Given the description of an element on the screen output the (x, y) to click on. 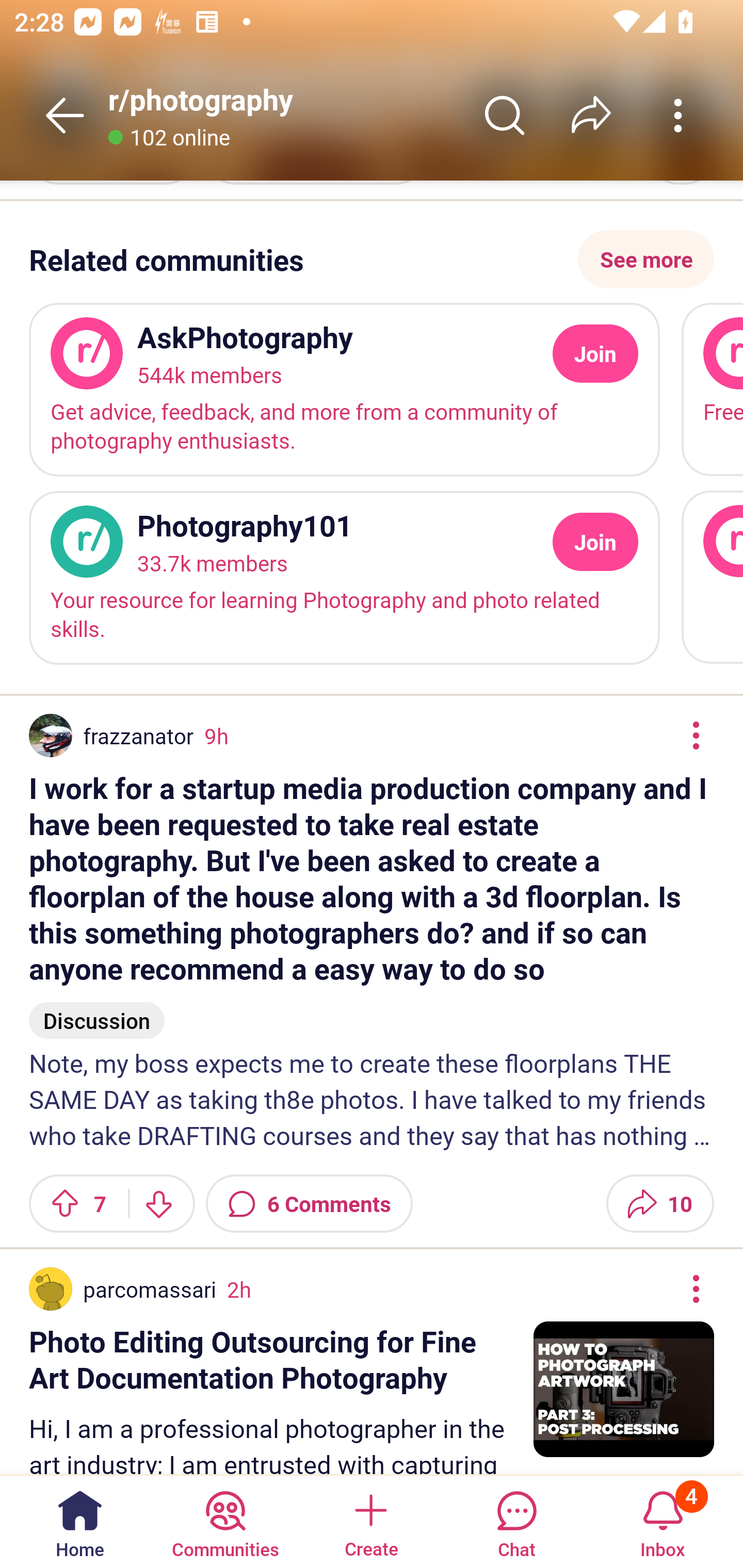
Back (64, 115)
Search r/﻿photography (504, 115)
Share r/﻿photography (591, 115)
More community actions (677, 115)
Related communities See more (371, 259)
See more (646, 259)
Join (595, 353)
Join (595, 541)
Discussion (96, 1010)
Home (80, 1520)
Communities (225, 1520)
Create a post Create (370, 1520)
Chat (516, 1520)
Inbox, has 4 notifications 4 Inbox (662, 1520)
